Given the description of an element on the screen output the (x, y) to click on. 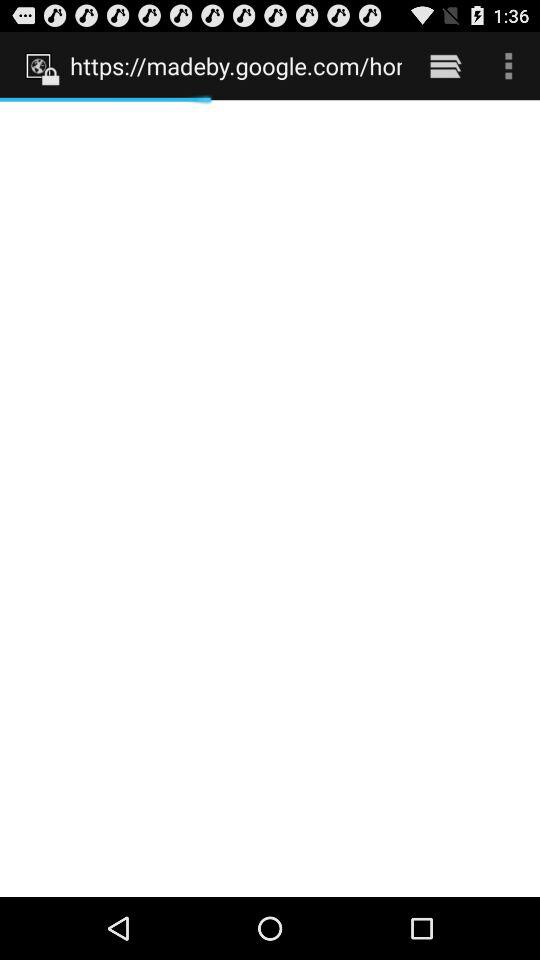
turn off the icon below the https madeby google item (270, 497)
